Given the description of an element on the screen output the (x, y) to click on. 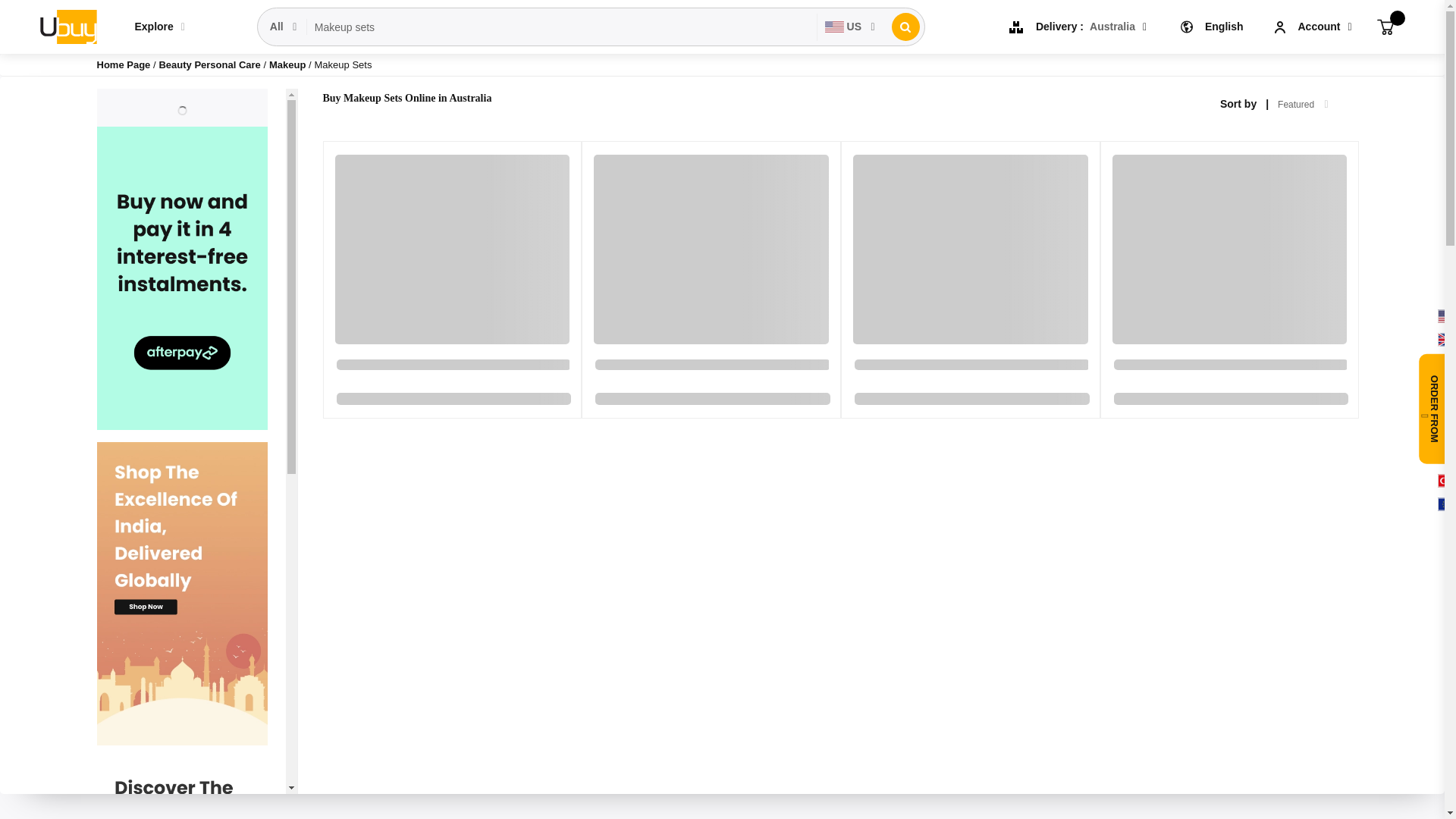
Makeup sets (561, 26)
US (849, 26)
Ubuy (67, 26)
Makeup (288, 64)
Makeup sets (561, 26)
Beauty Personal Care (210, 64)
Beauty Personal Care (210, 64)
Makeup (288, 64)
All (283, 26)
Cart (1385, 26)
Home Page (124, 64)
Home Page (124, 64)
